Given the description of an element on the screen output the (x, y) to click on. 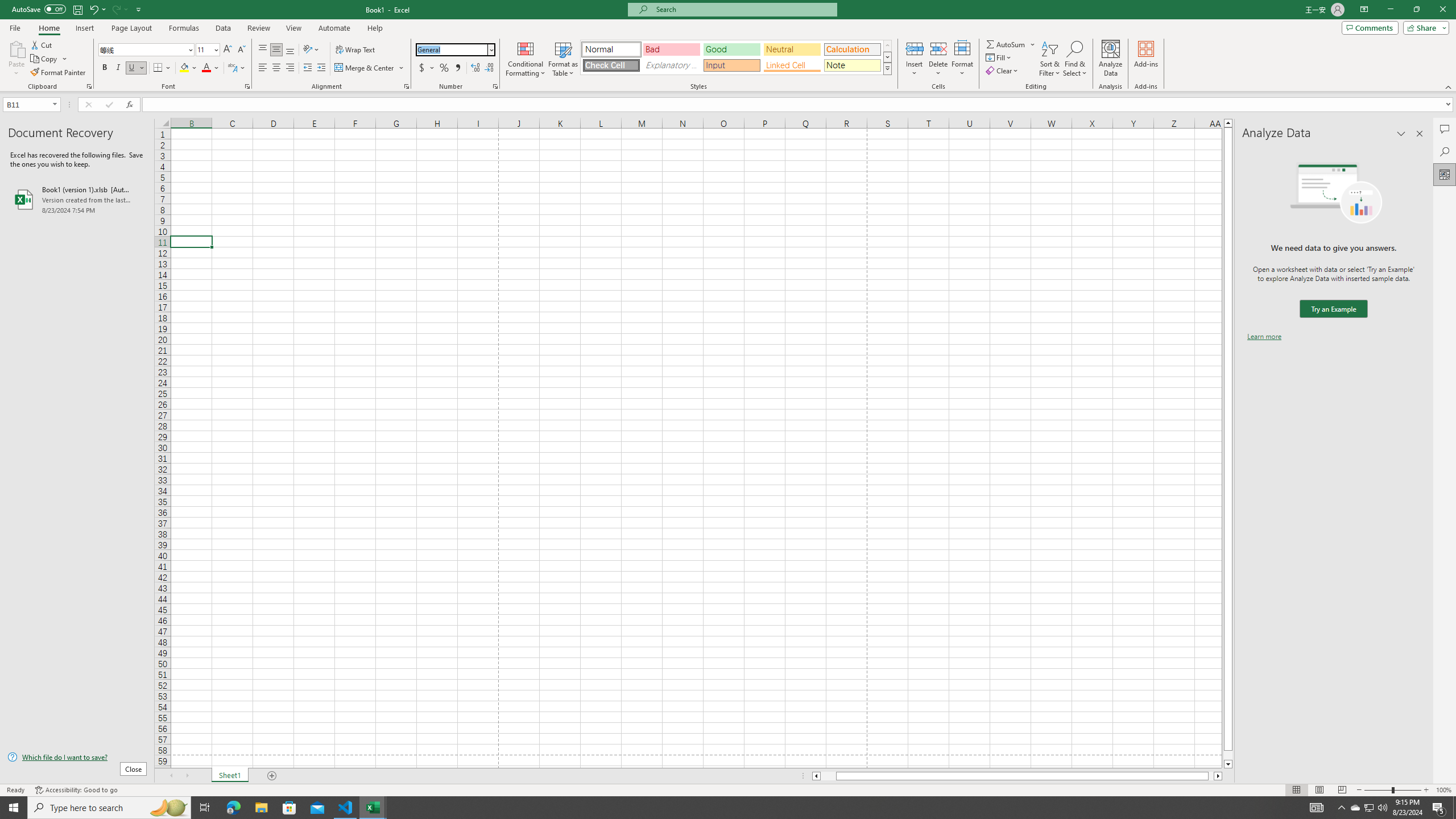
Italic (118, 67)
Format (962, 58)
Top Align (262, 49)
Cut (42, 44)
Font Color RGB(255, 0, 0) (206, 67)
Increase Font Size (227, 49)
